Given the description of an element on the screen output the (x, y) to click on. 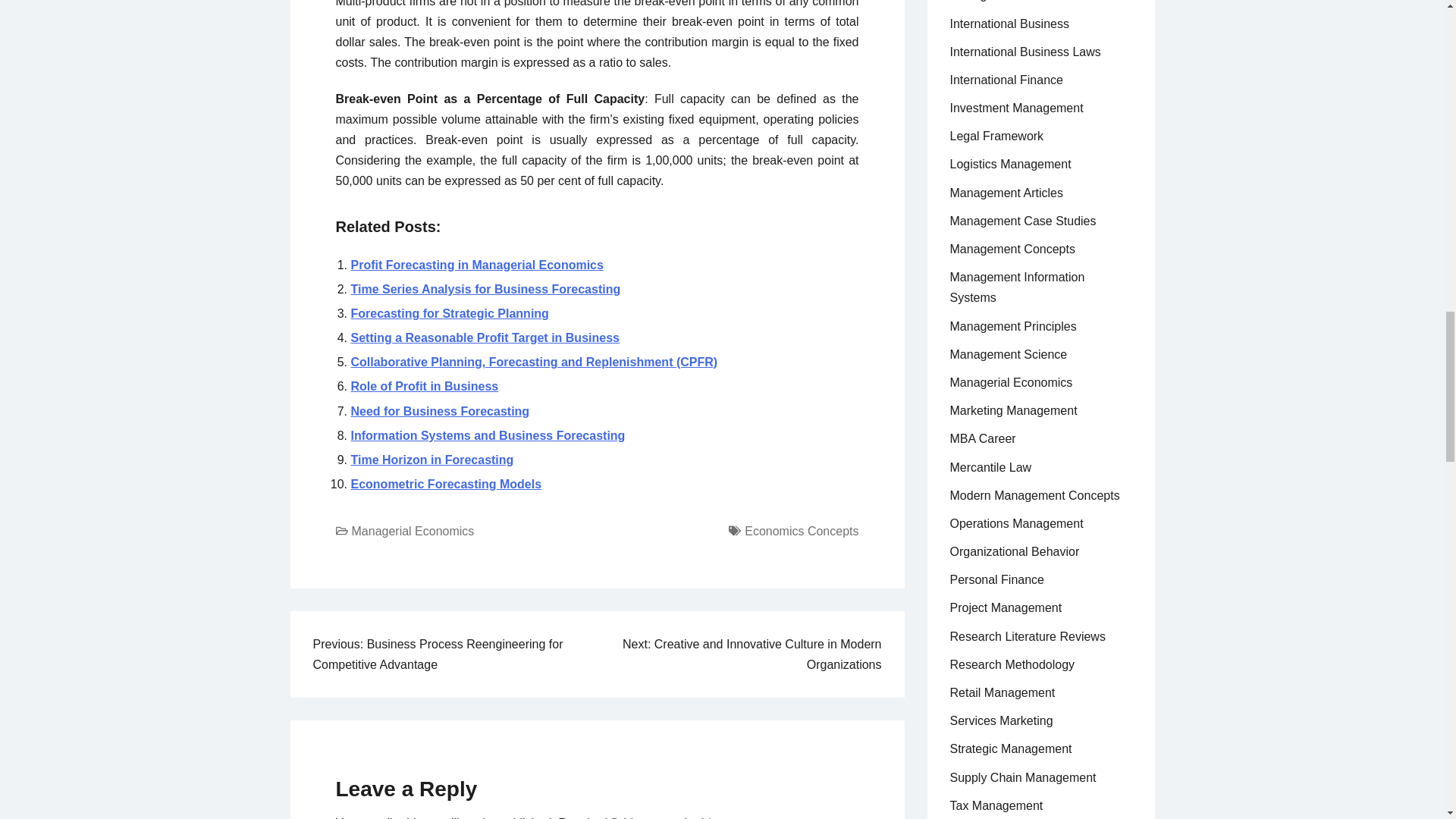
Role of Profit in Business (423, 386)
Need for Business Forecasting (439, 410)
Forecasting for Strategic Planning (449, 313)
Time Series Analysis for Business Forecasting (485, 288)
Forecasting for Strategic Planning (449, 313)
Profit Forecasting in Managerial Economics (476, 264)
Setting a Reasonable Profit Target in Business (484, 337)
Need for Business Forecasting (439, 410)
Economics Concepts (801, 530)
Profit Forecasting in Managerial Economics (476, 264)
